Given the description of an element on the screen output the (x, y) to click on. 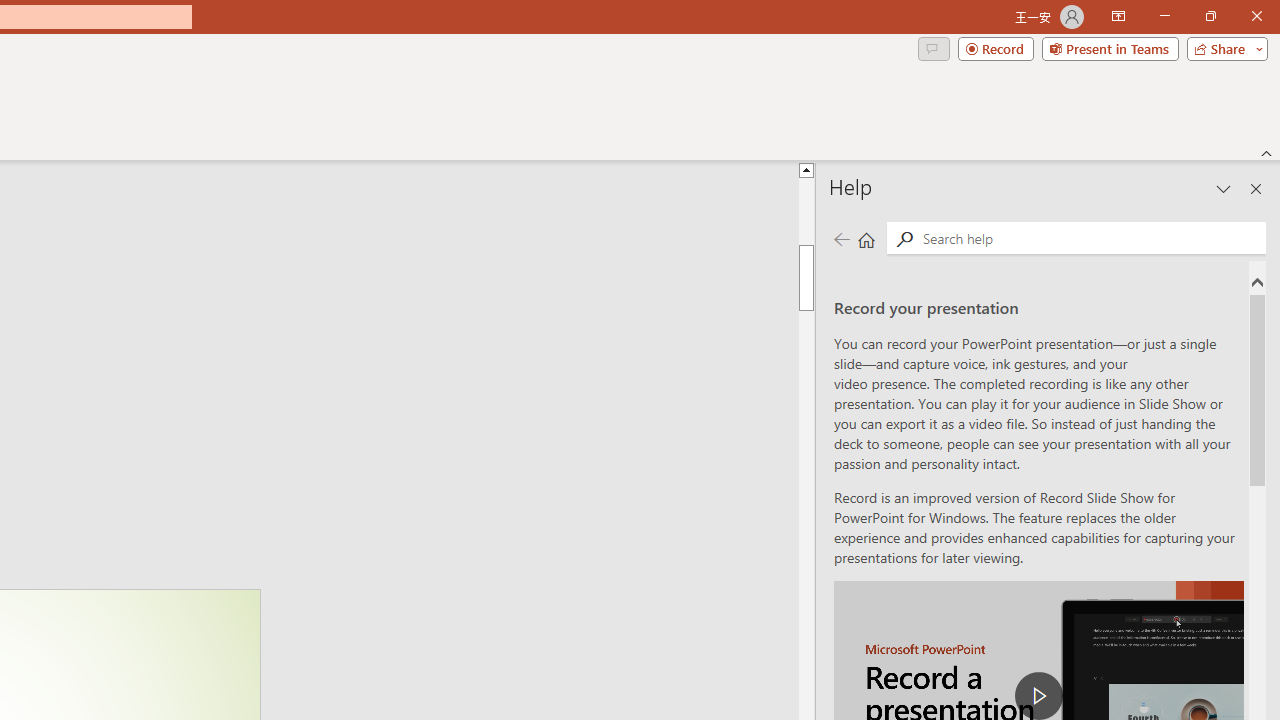
Previous page (841, 238)
